Given the description of an element on the screen output the (x, y) to click on. 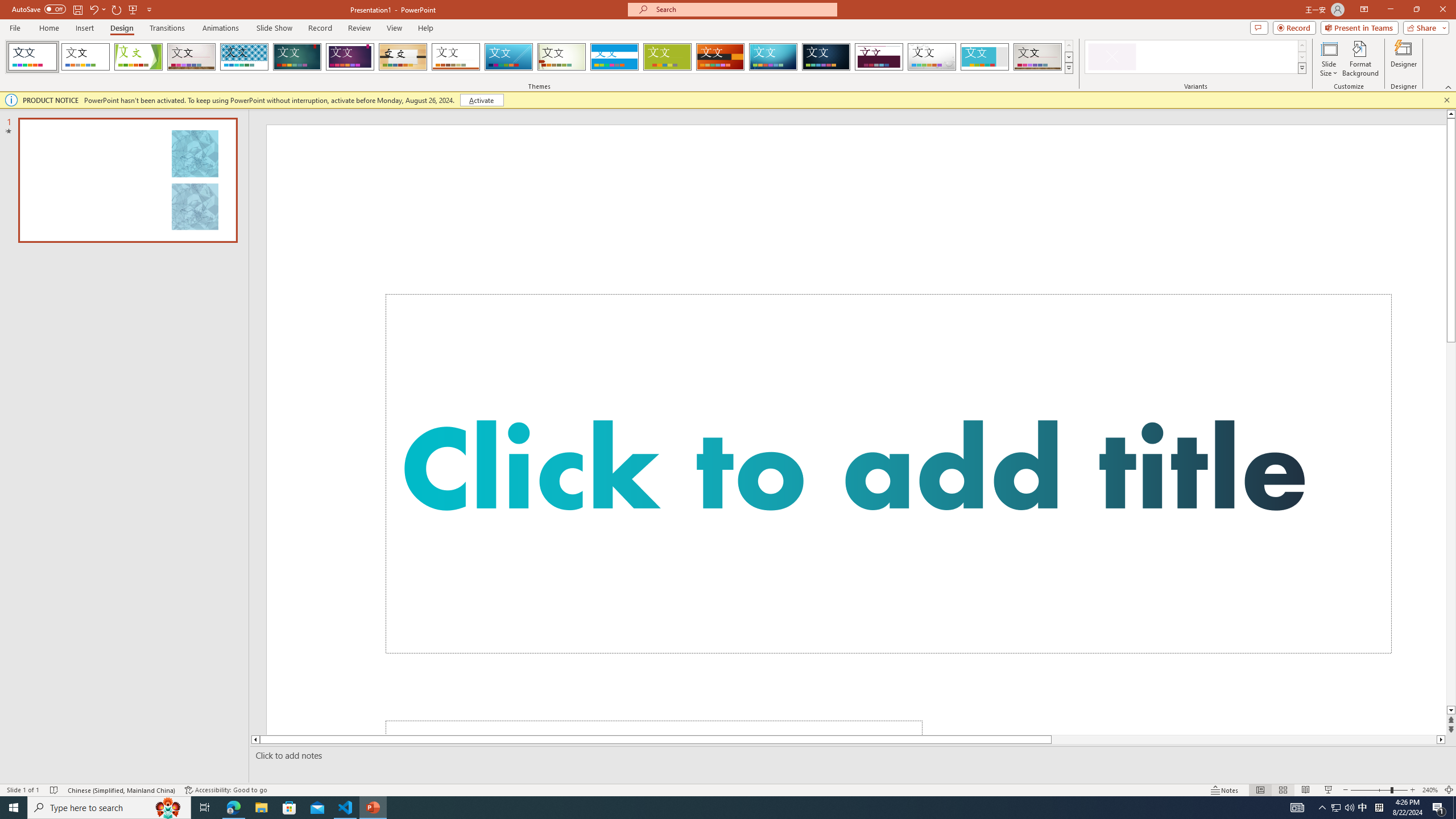
Undo (92, 9)
Record (1294, 27)
Circuit (772, 56)
Themes (1068, 67)
More Options (103, 9)
Normal (1260, 790)
Banded (614, 56)
Slide Sorter (1282, 790)
Zoom to Fit  (1449, 790)
Title TextBox (888, 473)
AutomationID: SlideThemesGallery (539, 56)
Collapse the Ribbon (1448, 86)
Redo (117, 9)
